Given the description of an element on the screen output the (x, y) to click on. 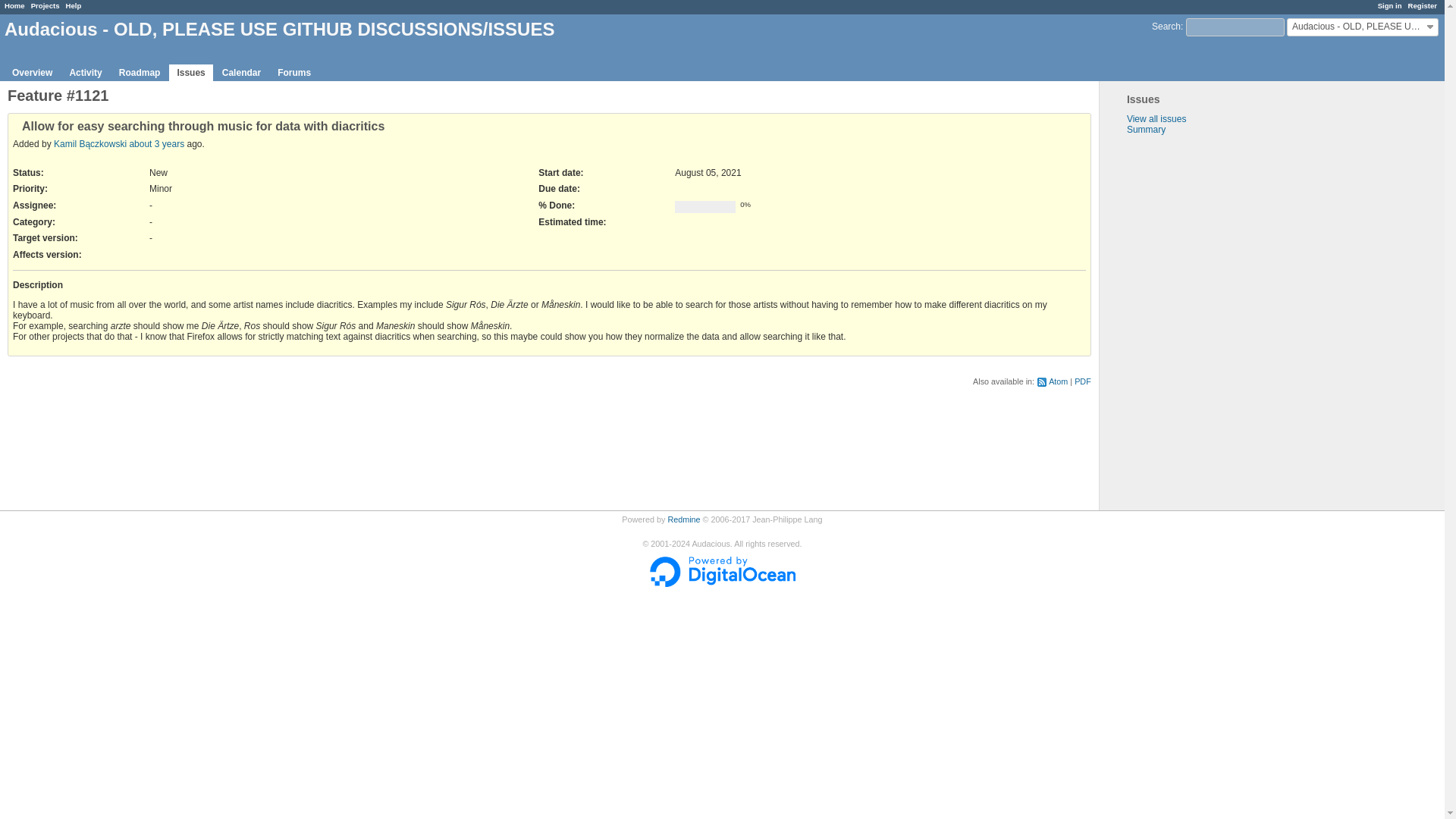
Forums (293, 72)
Help (73, 5)
Activity (85, 72)
about 3 years (156, 143)
Home (14, 5)
View all issues (1156, 118)
Summary (1146, 129)
Issues (190, 72)
PDF (1082, 380)
Search (1165, 26)
Register (1422, 5)
Projects (44, 5)
Redmine (683, 519)
Sign in (1389, 5)
Overview (31, 72)
